Given the description of an element on the screen output the (x, y) to click on. 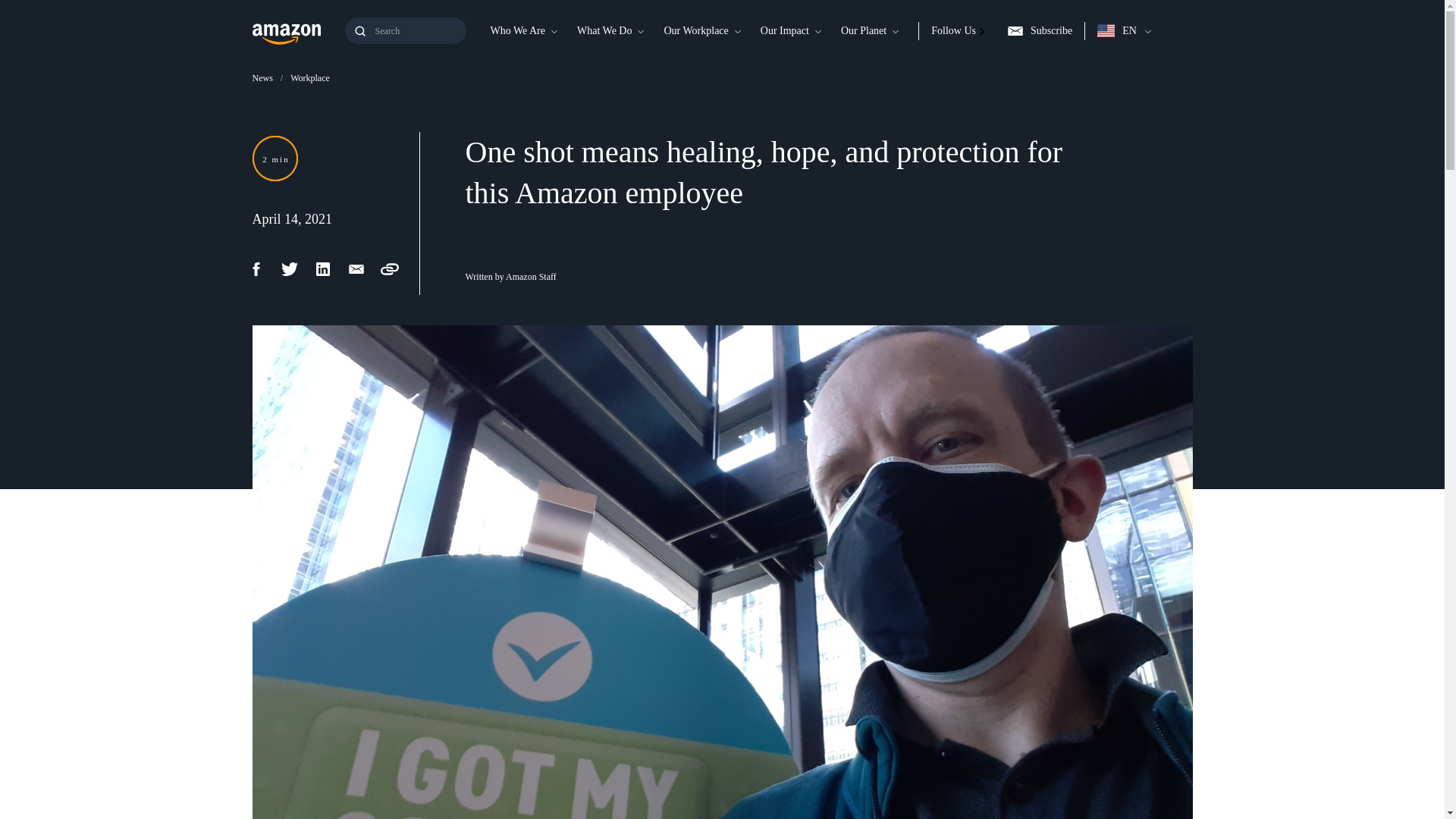
Facebook Share (264, 269)
Who We Are (516, 30)
Twitter Share (297, 269)
LinkedIn Share (330, 269)
What We Do (603, 30)
Our Workplace (694, 30)
Our Impact (784, 30)
copy link (396, 269)
email (363, 269)
